Given the description of an element on the screen output the (x, y) to click on. 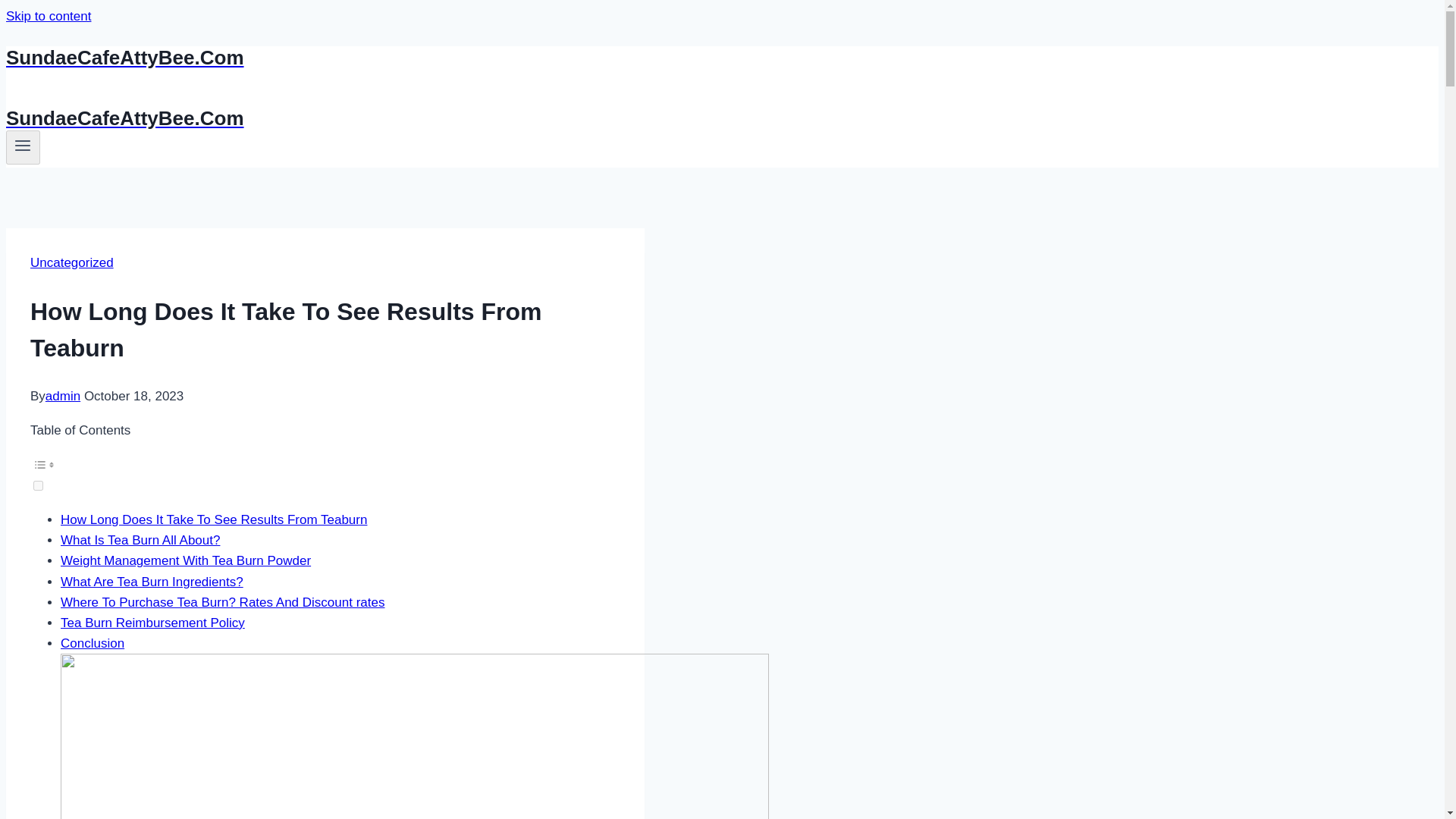
Toggle Menu (22, 146)
SundaeCafeAttyBee.Com (494, 118)
Toggle Menu (22, 145)
Weight Management With Tea Burn Powder (186, 560)
How Long Does It Take To See Results From Teaburn (213, 519)
How Long Does It Take To See Results From Teaburn (213, 519)
Tea Burn Reimbursement Policy (152, 622)
Conclusion (92, 643)
Skip to content (47, 16)
Where To Purchase Tea Burn? Rates And Discount rates (222, 602)
